Given the description of an element on the screen output the (x, y) to click on. 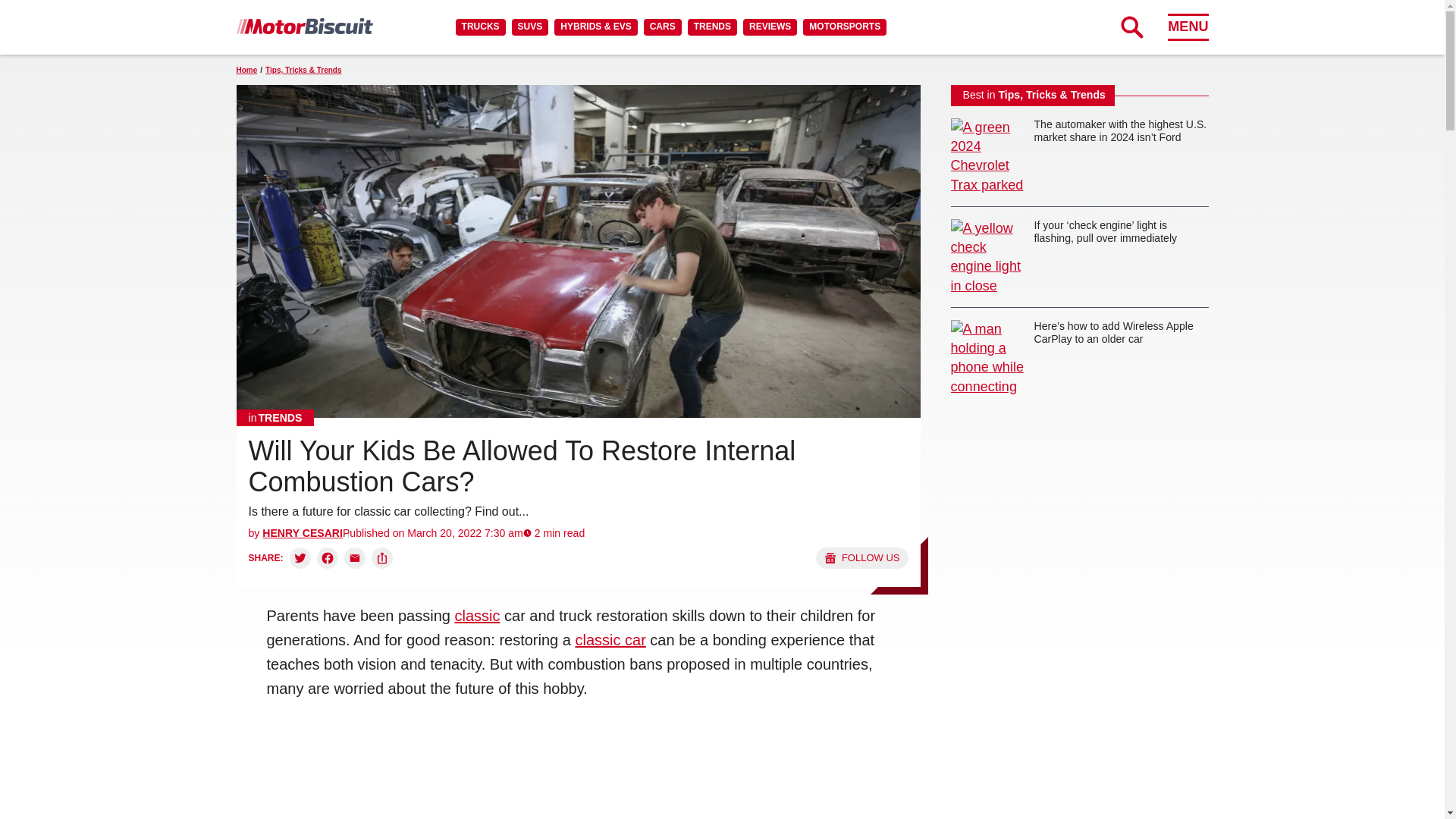
MOTORSPORTS (844, 26)
CARS (662, 26)
TRENDS (711, 26)
TRUCKS (480, 26)
Trends (274, 417)
MENU (1187, 26)
SUVS (530, 26)
Expand Search (1131, 26)
MotorBiscuit (303, 26)
